Given the description of an element on the screen output the (x, y) to click on. 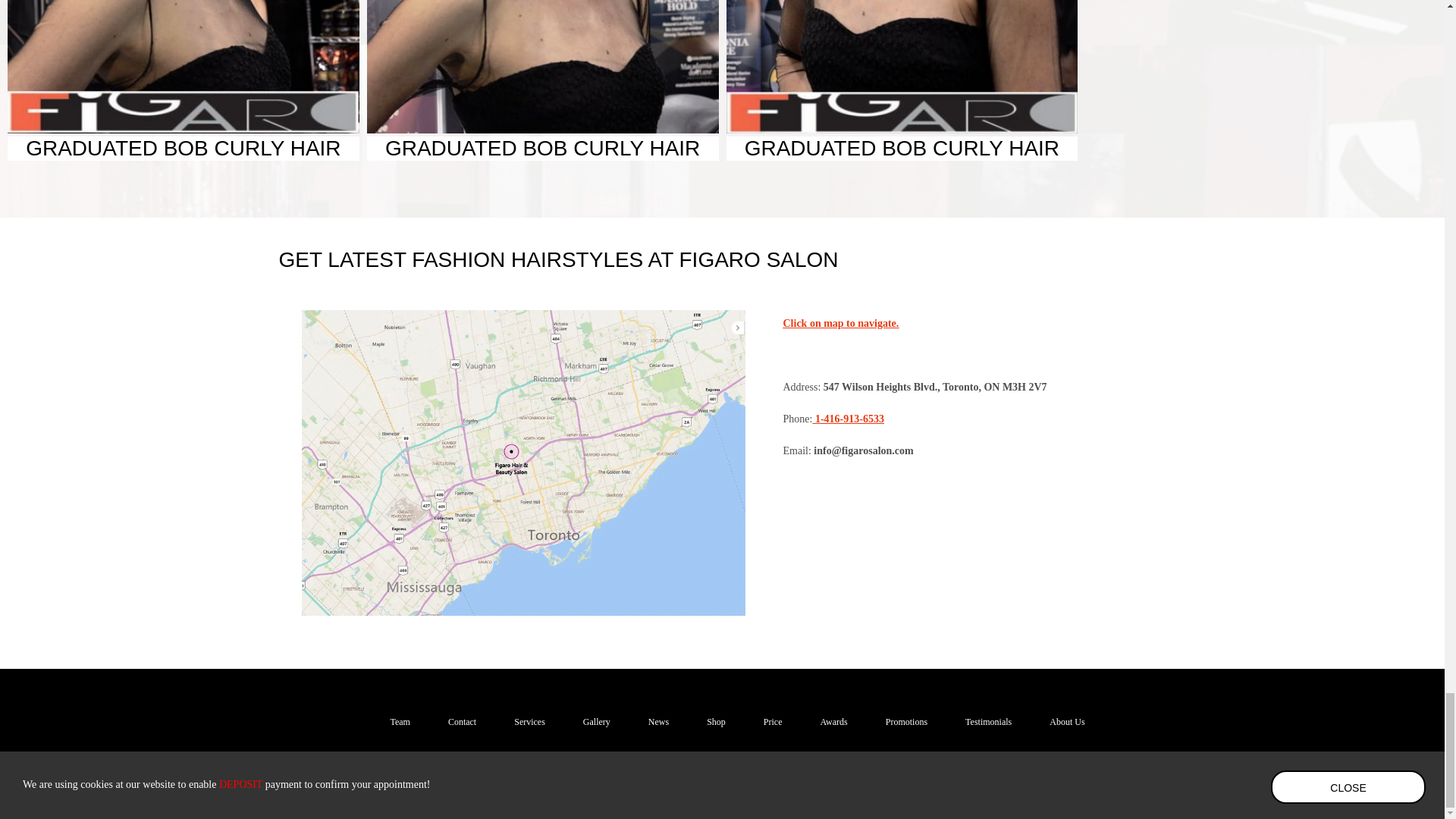
Feedback (1023, 794)
Click on map to navigate. (966, 336)
Team (399, 721)
Awards (834, 721)
Promotions (906, 721)
1-416-913-6533 (847, 419)
About Us (1066, 721)
Policy Terms (1077, 794)
Services (528, 721)
News (657, 721)
Price (772, 721)
Sitemap (1130, 794)
Shop (715, 721)
Gallery (596, 721)
Testimonials (988, 721)
